Given the description of an element on the screen output the (x, y) to click on. 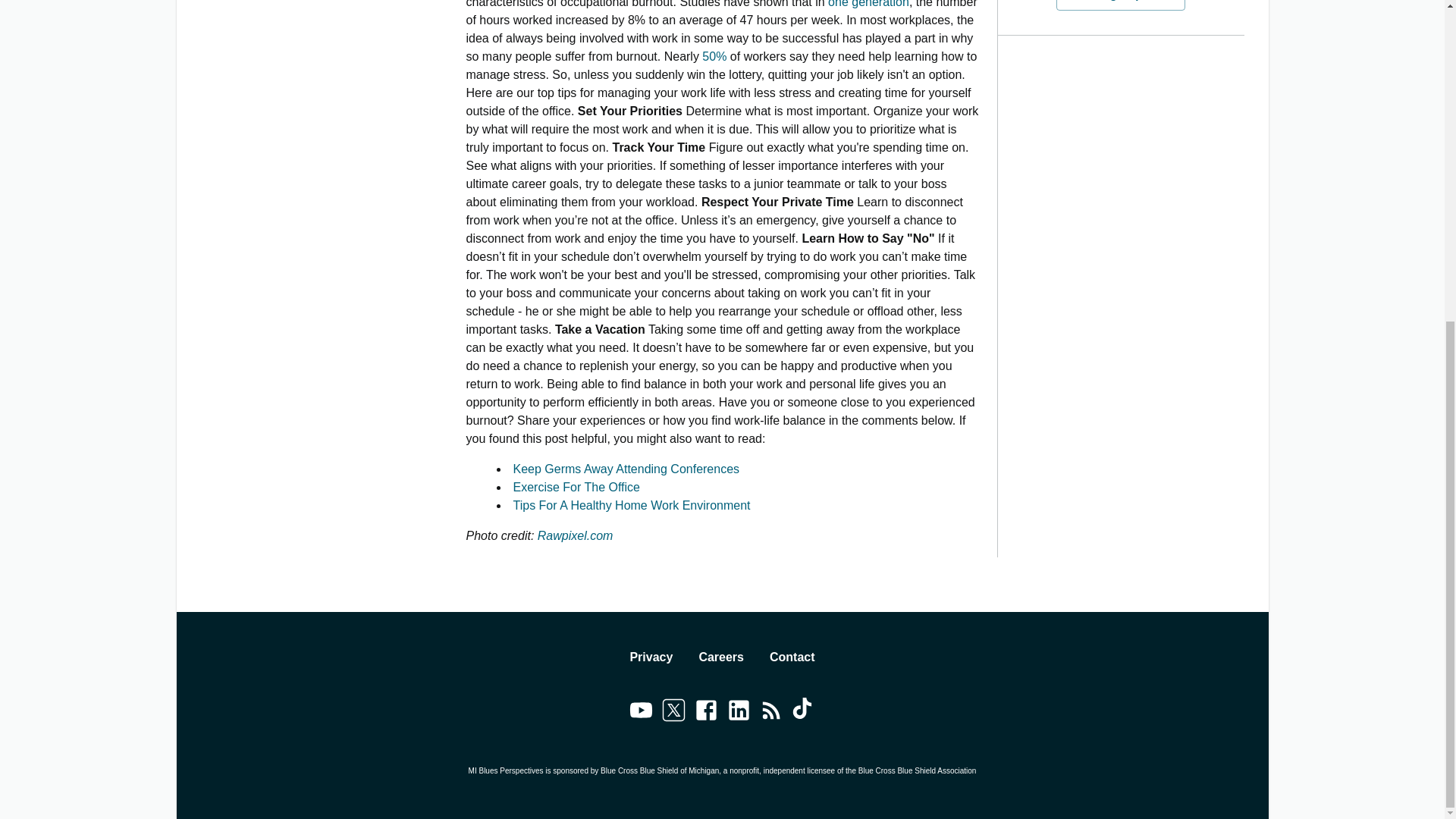
one generation (868, 4)
Rawpixel.com (574, 535)
Careers (721, 657)
Exercise For The Office (575, 486)
Contact (792, 657)
Keep Germs Away Attending Conferences (625, 468)
Privacy (650, 657)
Tips For A Healthy Home Work Environment (630, 504)
Sign Up (1121, 5)
